Given the description of an element on the screen output the (x, y) to click on. 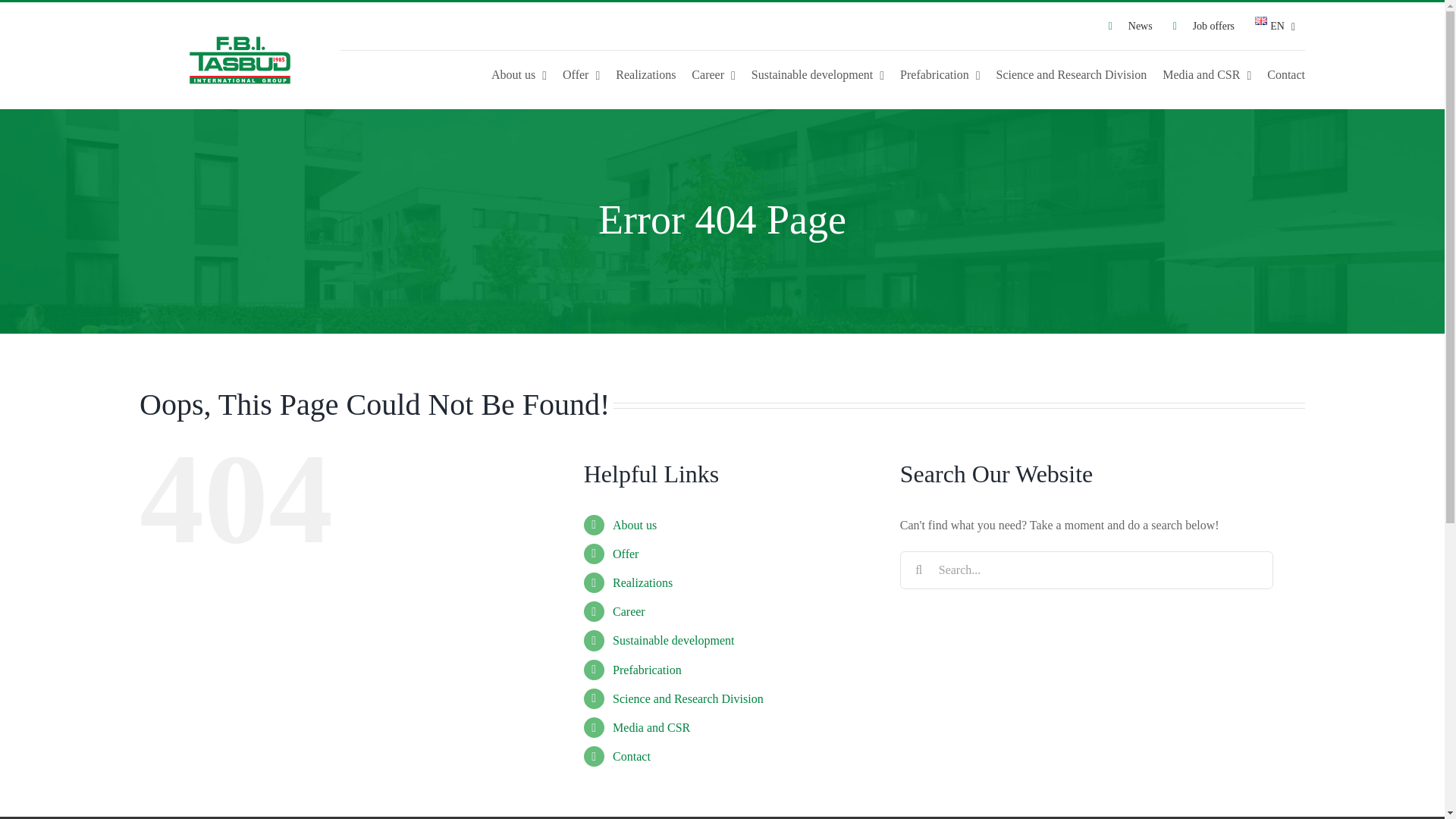
EN (1274, 25)
About us (519, 74)
News (1130, 25)
Sustainable development (817, 74)
Career (713, 74)
Job offers (1203, 25)
Prefabrication (939, 74)
Realizations (645, 74)
